Given the description of an element on the screen output the (x, y) to click on. 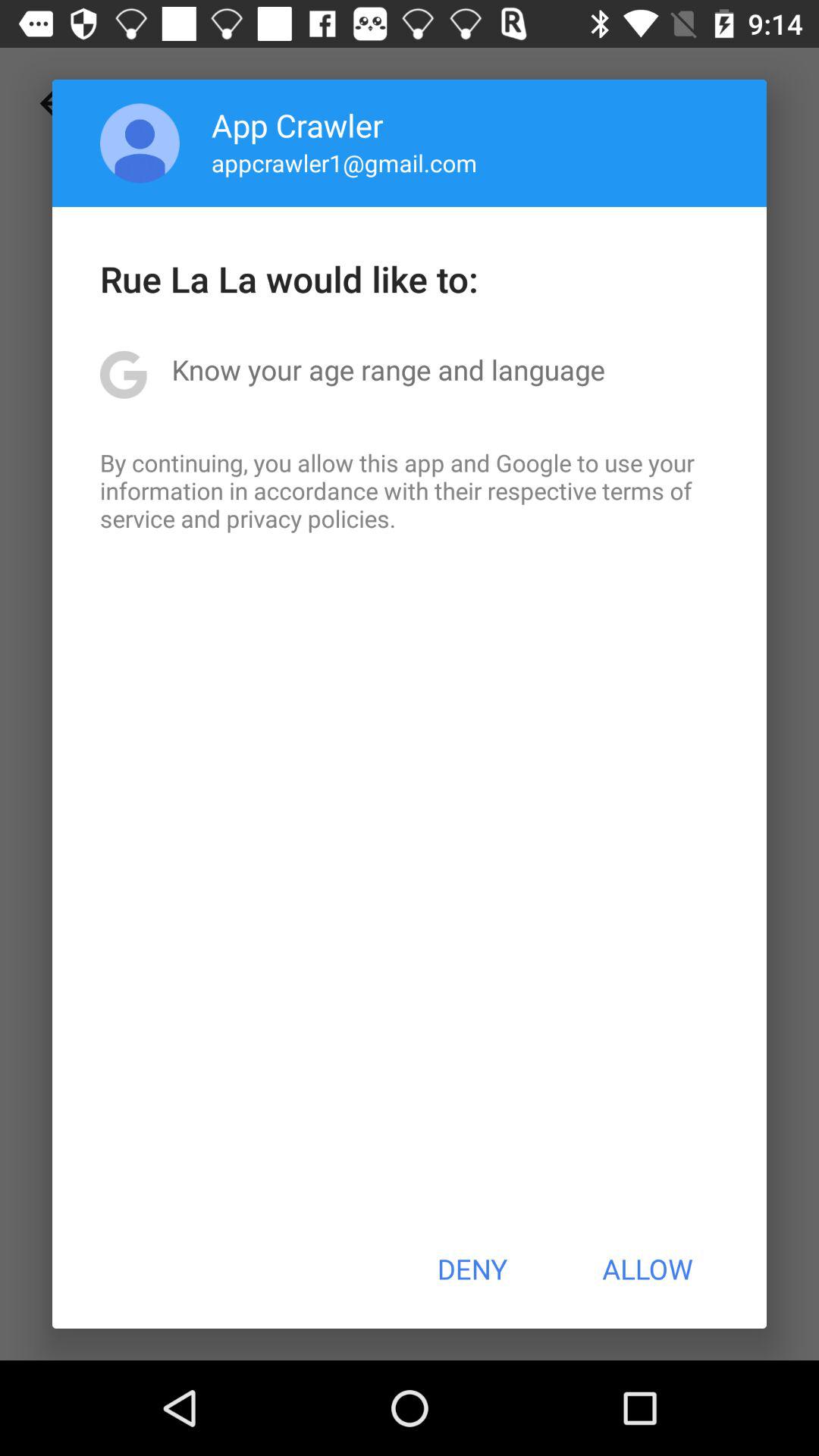
tap the icon next to the allow item (471, 1268)
